Given the description of an element on the screen output the (x, y) to click on. 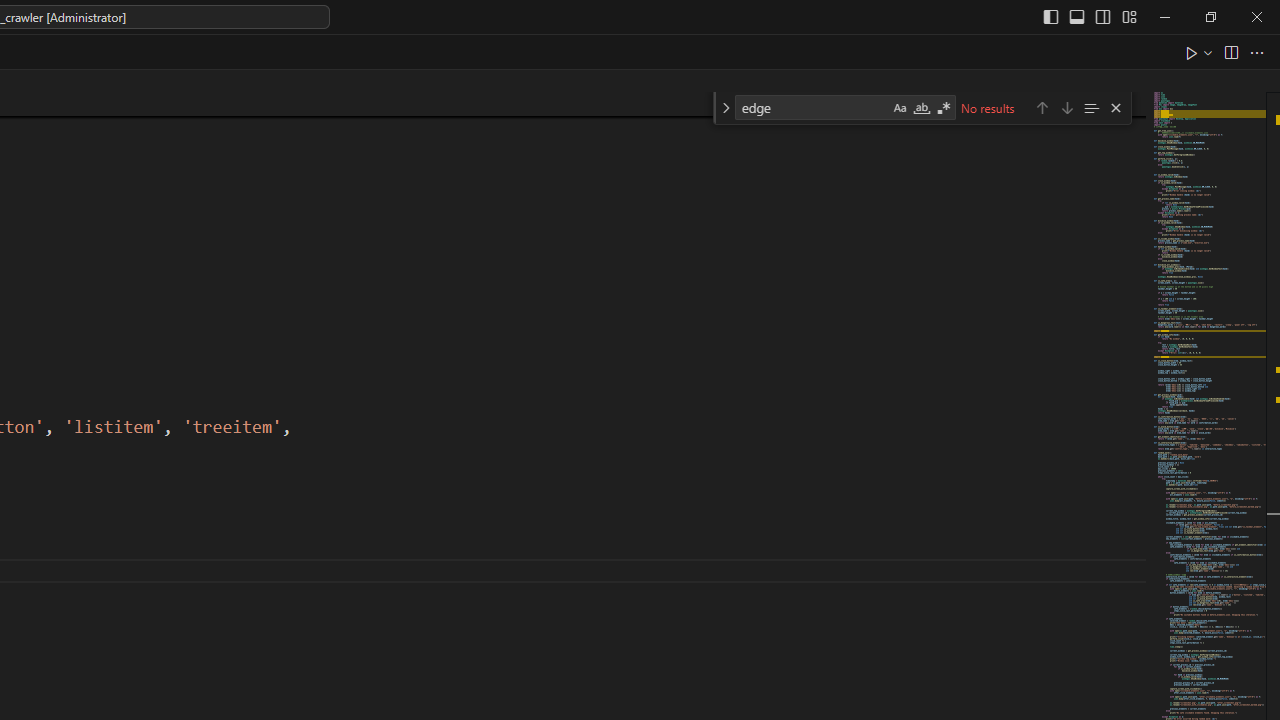
Customize Layout... (1128, 16)
Split Editor Right (Ctrl+\) [Alt] Split Editor Down (1230, 52)
Toggle Primary Side Bar (Ctrl+B) (1050, 16)
Run or Debug... (1208, 52)
Previous Match (Shift+Enter) (1041, 106)
Editor actions (1226, 52)
Close (Escape) (1115, 107)
